Given the description of an element on the screen output the (x, y) to click on. 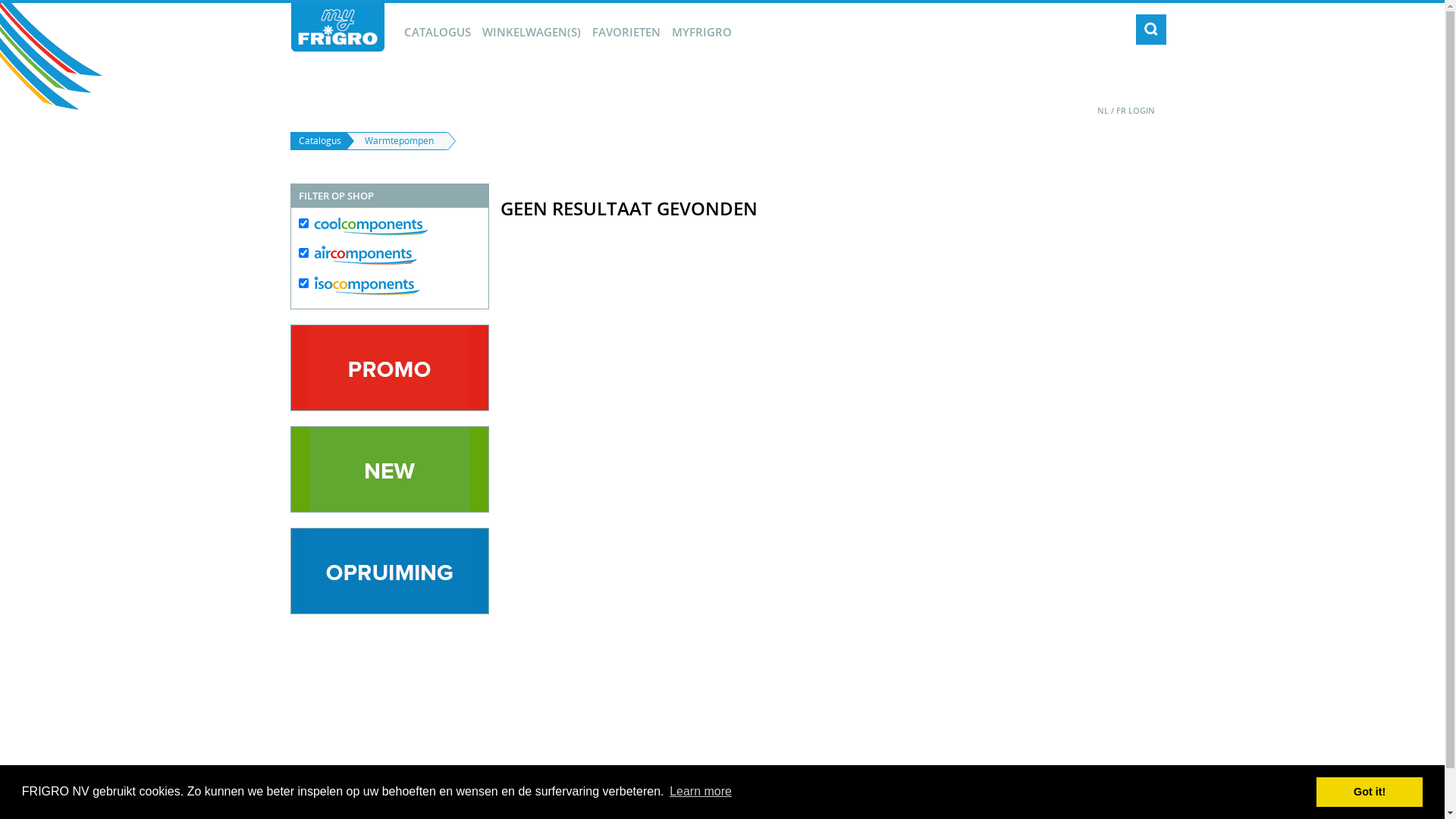
CATALOGUS Element type: text (436, 32)
Zoeken Element type: hover (1150, 29)
Warmtepompen Element type: text (396, 140)
WINKELWAGEN(S) Element type: text (531, 32)
FAVORIETEN Element type: text (625, 32)
Learn more Element type: text (700, 791)
NL Element type: text (1101, 110)
MYFRIGRO Element type: text (701, 32)
Got it! Element type: text (1369, 791)
LOGIN Element type: text (1141, 110)
Catalogus Element type: text (317, 140)
FR Element type: text (1121, 110)
